Given the description of an element on the screen output the (x, y) to click on. 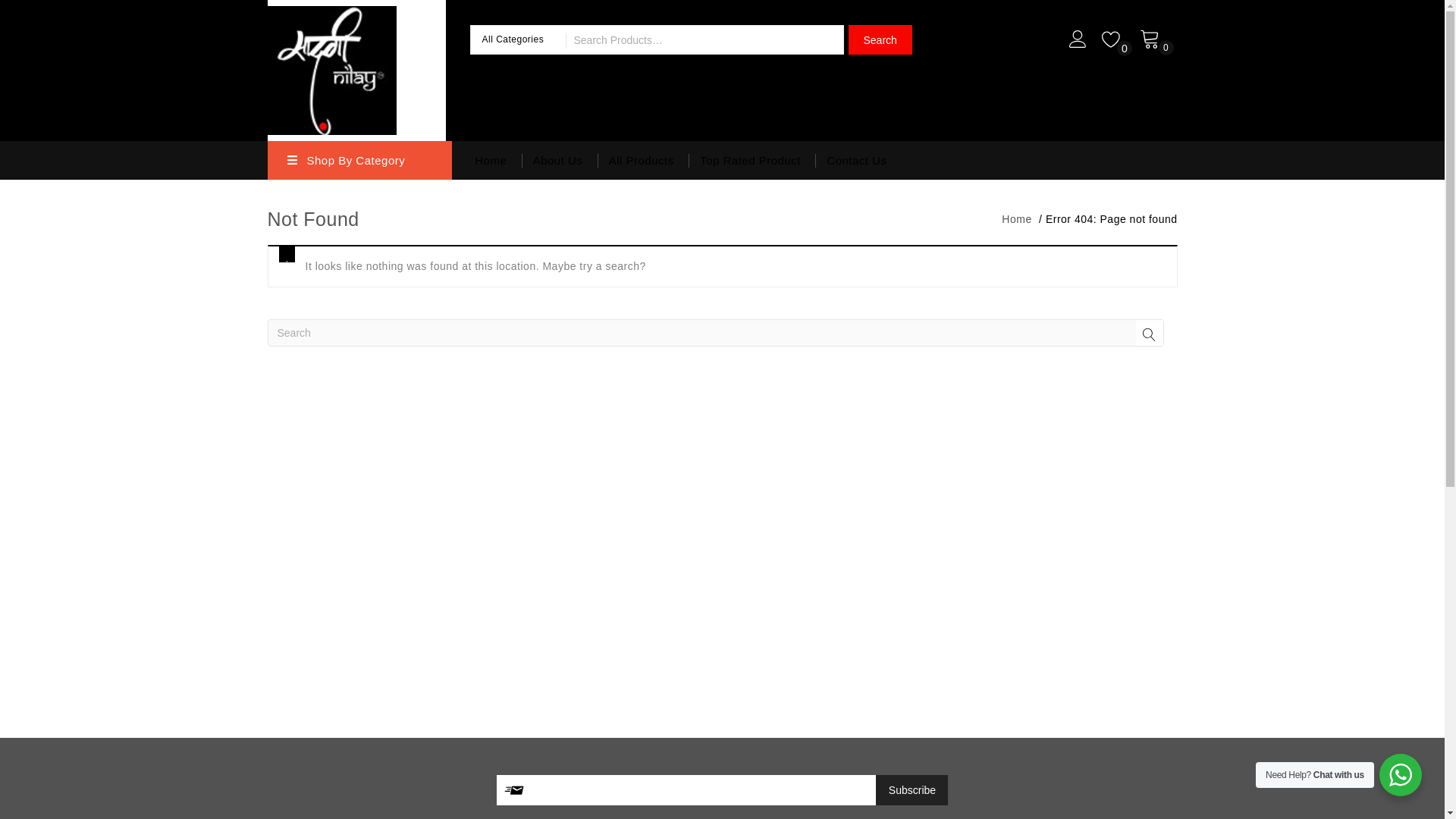
Subscribe (911, 789)
Search (879, 39)
About Us (557, 159)
Top Rated Product (750, 159)
SaadgeeNilay (331, 68)
Contact Us (856, 159)
Search (879, 39)
Go (1149, 335)
Home (484, 159)
Home (1016, 218)
